Given the description of an element on the screen output the (x, y) to click on. 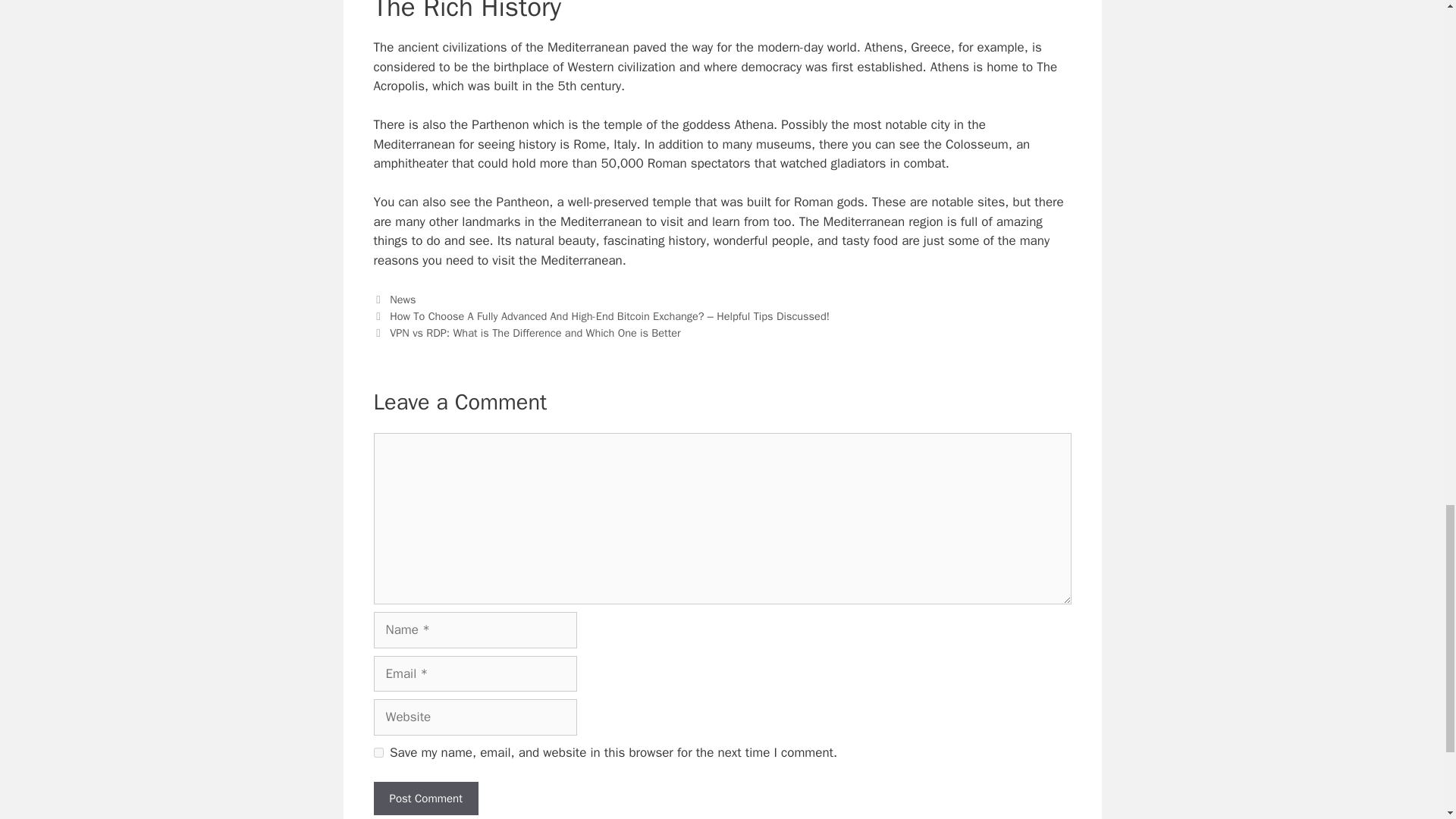
VPN vs RDP: What is The Difference and Which One is Better (535, 332)
Post Comment (424, 798)
yes (377, 752)
News (402, 299)
Post Comment (424, 798)
